Given the description of an element on the screen output the (x, y) to click on. 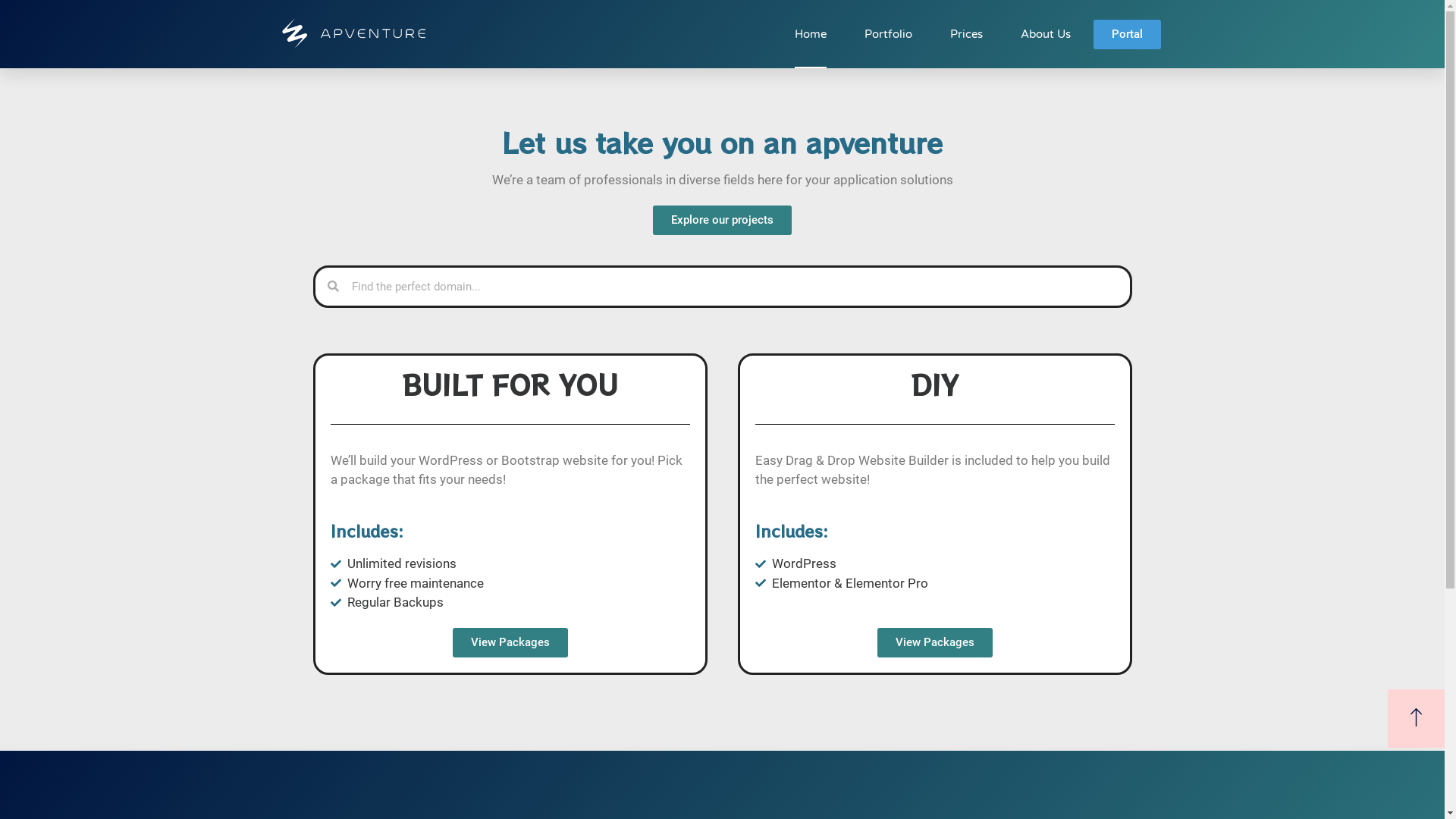
Explore our projects Element type: text (721, 219)
Search Element type: hover (733, 285)
About Us Element type: text (1045, 34)
Home Element type: text (810, 34)
Portal Element type: text (1127, 34)
View Packages Element type: text (933, 642)
Portfolio Element type: text (888, 34)
arrow Element type: text (1415, 718)
View Packages Element type: text (509, 642)
Prices Element type: text (966, 34)
